Given the description of an element on the screen output the (x, y) to click on. 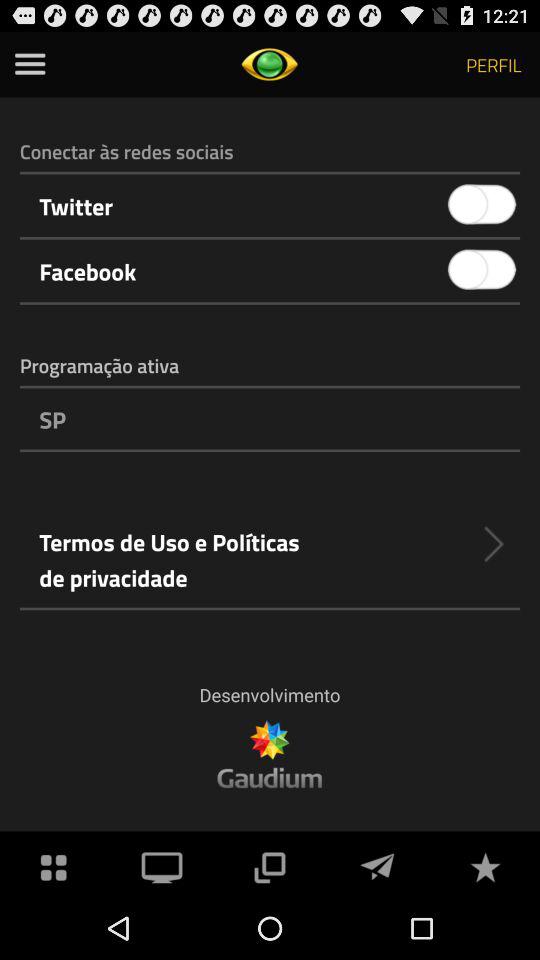
go to facebook (482, 270)
